Given the description of an element on the screen output the (x, y) to click on. 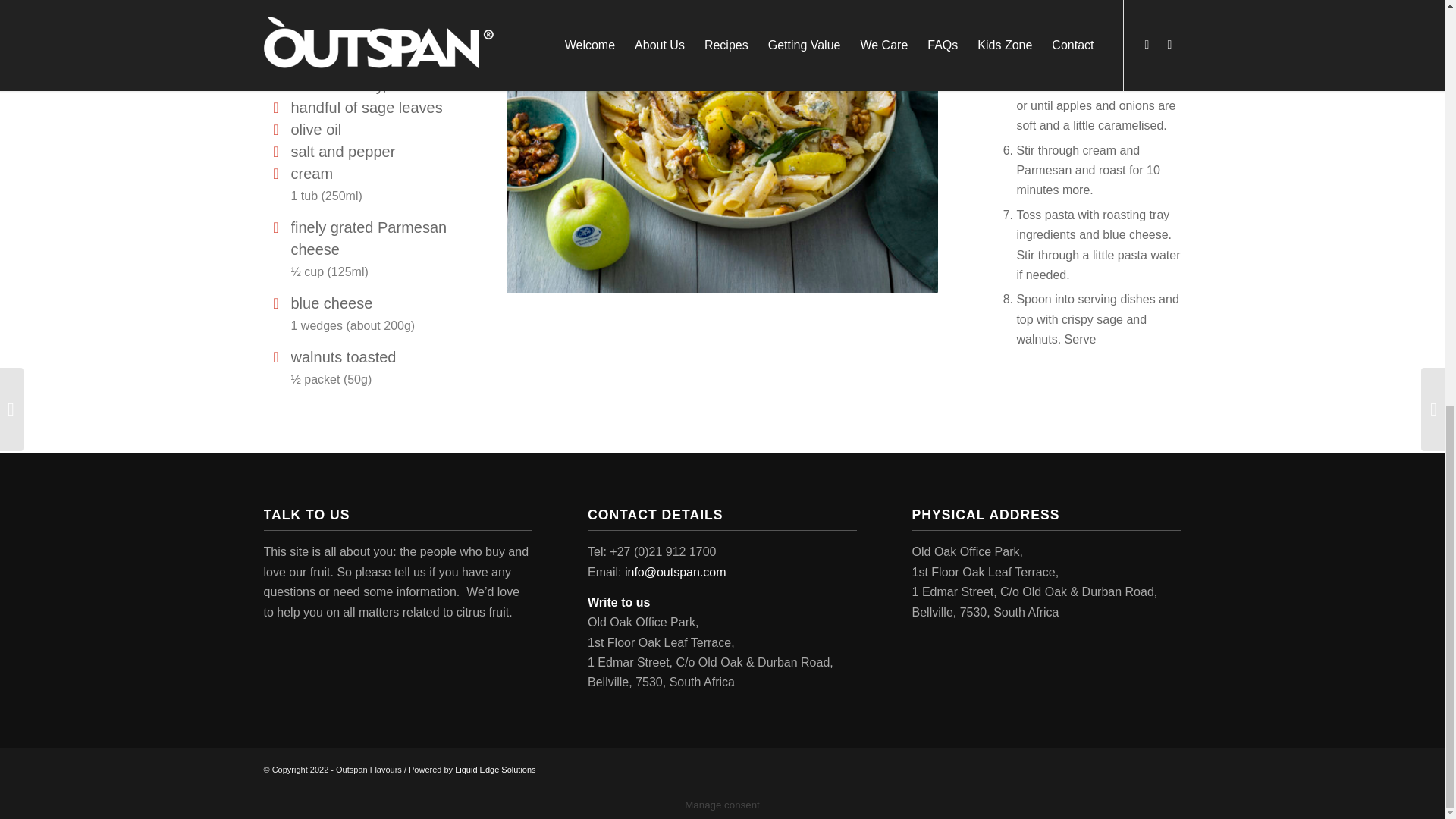
Liquid Edge Solutions (494, 768)
